Given the description of an element on the screen output the (x, y) to click on. 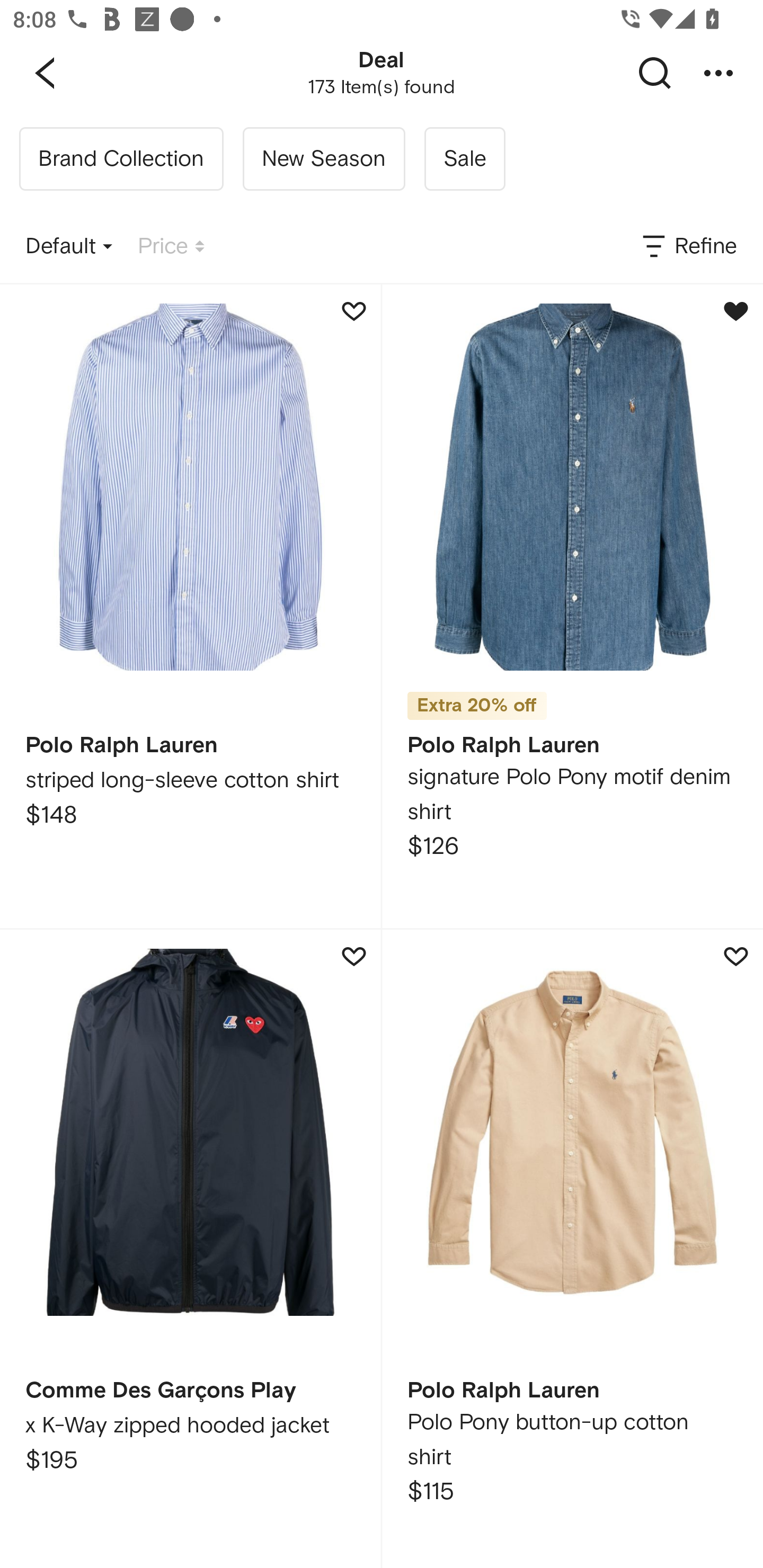
Brand Collection (121, 158)
New Season (323, 158)
Sale (464, 158)
Default (68, 246)
Price (171, 246)
Refine (688, 246)
Extra 20% off (477, 698)
